Given the description of an element on the screen output the (x, y) to click on. 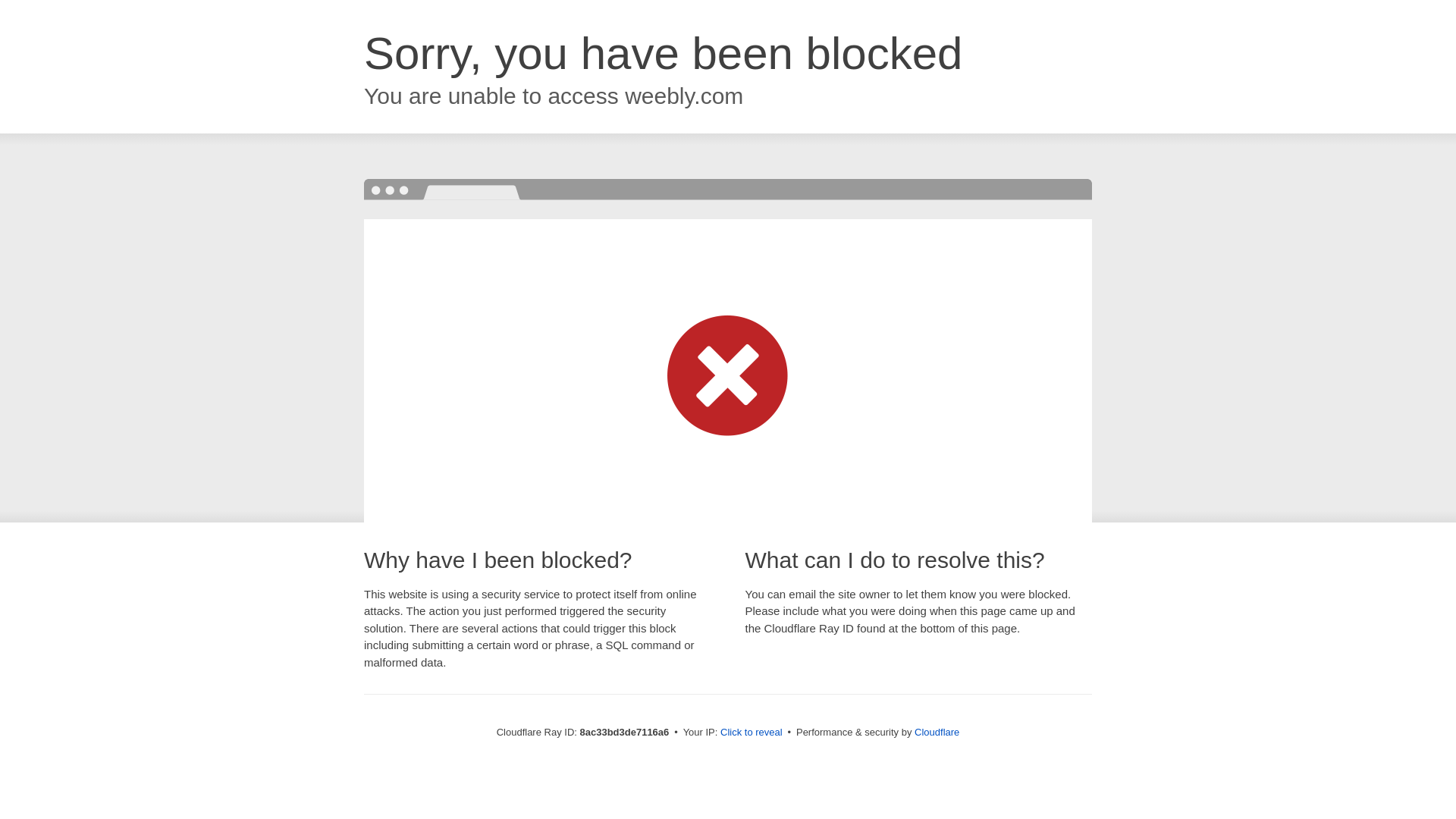
Click to reveal (751, 732)
Cloudflare (936, 731)
